Given the description of an element on the screen output the (x, y) to click on. 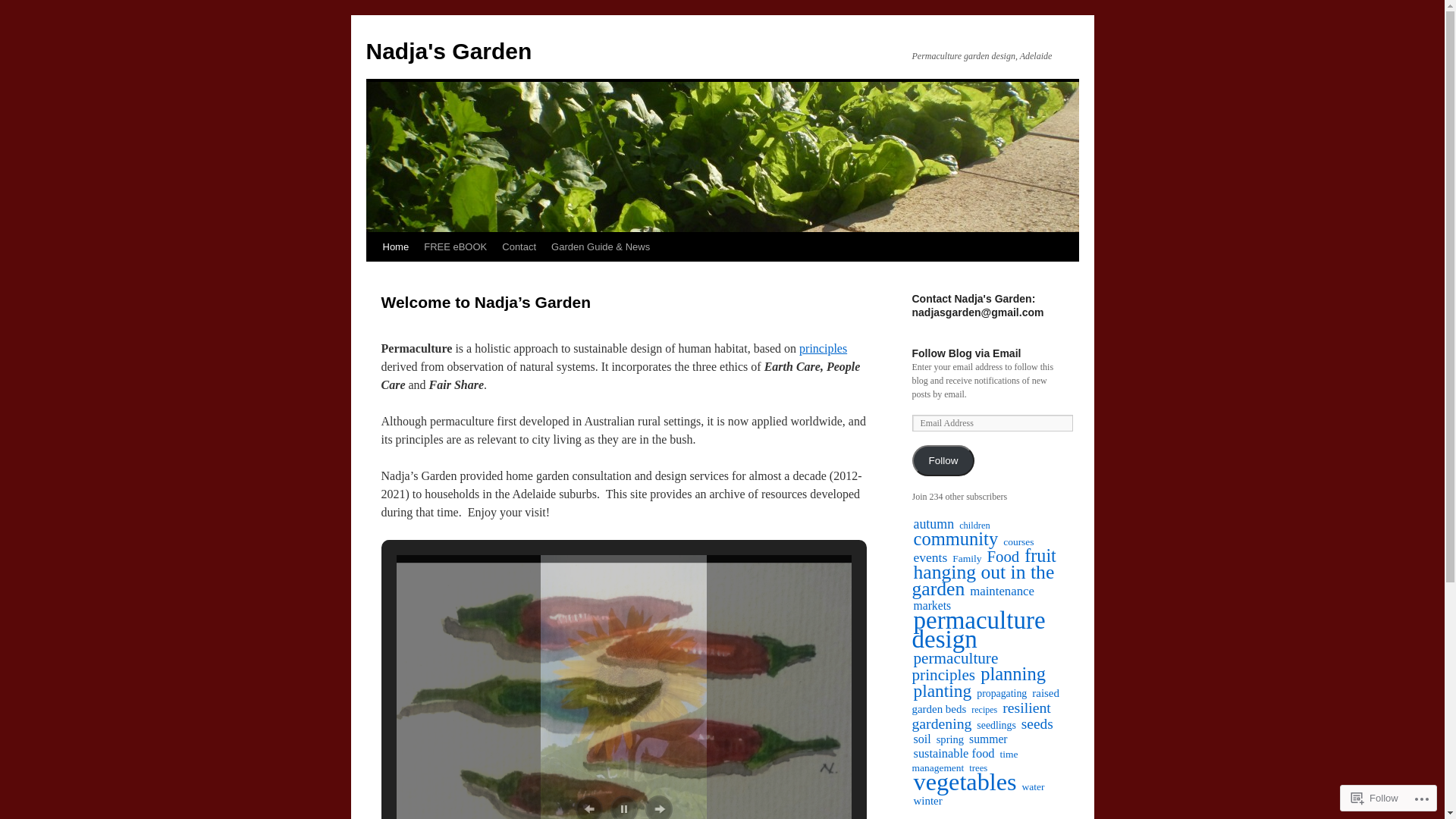
soil Element type: text (922, 738)
Garden Guide & News Element type: text (600, 246)
recipes Element type: text (983, 709)
Home Element type: text (395, 246)
maintenance Element type: text (1002, 591)
permaculture principles Element type: text (954, 666)
markets Element type: text (932, 605)
courses Element type: text (1018, 541)
winter Element type: text (928, 800)
Follow Element type: text (942, 460)
Food Element type: text (1002, 556)
sustainable food Element type: text (954, 753)
seeds Element type: text (1037, 723)
vegetables Element type: text (965, 781)
planning Element type: text (1012, 673)
raised garden beds Element type: text (984, 700)
FREE eBOOK Element type: text (455, 246)
Nadja's Garden Element type: text (448, 50)
propagating Element type: text (1001, 693)
Follow Element type: text (1374, 797)
permaculture design Element type: text (977, 629)
hanging out in the garden Element type: text (982, 580)
principles Element type: text (823, 348)
planting Element type: text (942, 690)
fruit Element type: text (1040, 555)
seedlings Element type: text (995, 724)
spring Element type: text (949, 739)
water Element type: text (1033, 786)
resilient gardening Element type: text (980, 715)
events Element type: text (930, 557)
trees Element type: text (978, 768)
summer Element type: text (988, 738)
community Element type: text (956, 538)
Family Element type: text (966, 558)
children Element type: text (974, 525)
time management Element type: text (964, 760)
Contact Element type: text (518, 246)
autumn Element type: text (934, 523)
